Given the description of an element on the screen output the (x, y) to click on. 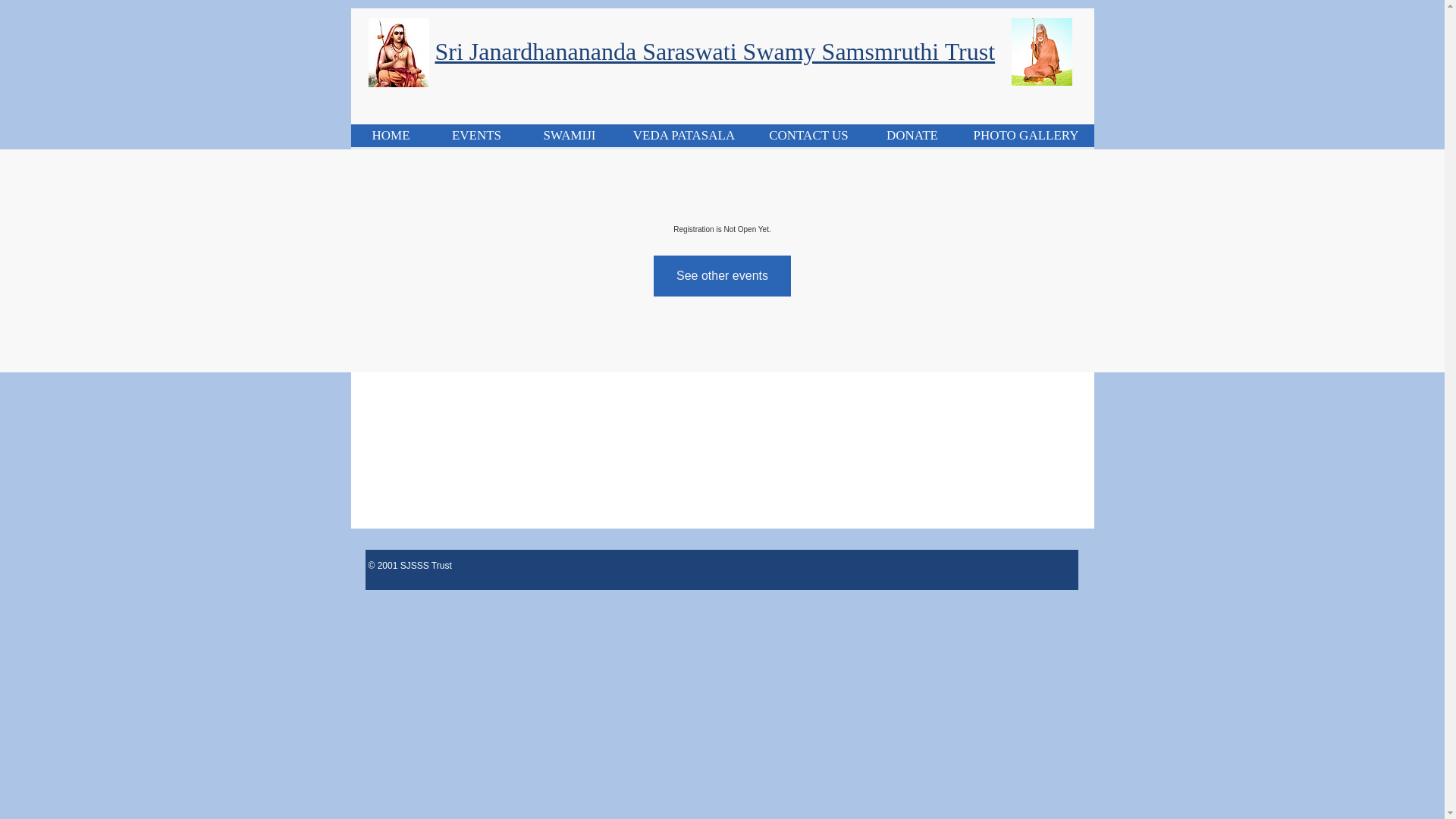
PHOTO GALLERY (1024, 135)
EVENTS (475, 135)
See other events (721, 275)
SWAMIJI (569, 135)
HOME (390, 135)
DONATE (911, 135)
CONTACT US (808, 135)
VEDA PATASALA (684, 135)
Sri Janardhanananda Saraswati Swamy Samsmruthi Trust (715, 51)
